Given the description of an element on the screen output the (x, y) to click on. 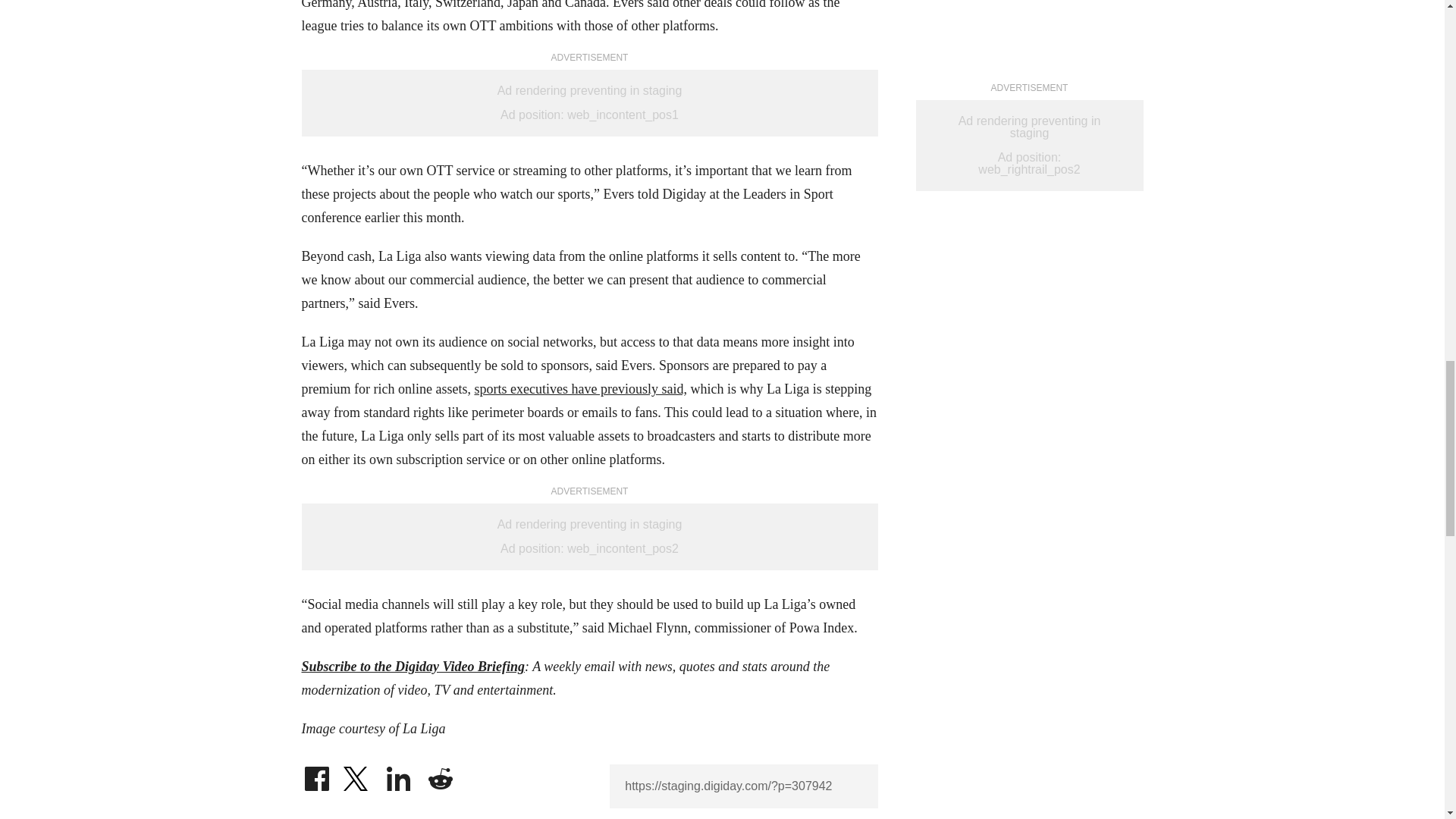
Share on Facebook (316, 774)
Share on Reddit (440, 774)
Share on Twitter (357, 774)
Share on LinkedIn (398, 774)
